Given the description of an element on the screen output the (x, y) to click on. 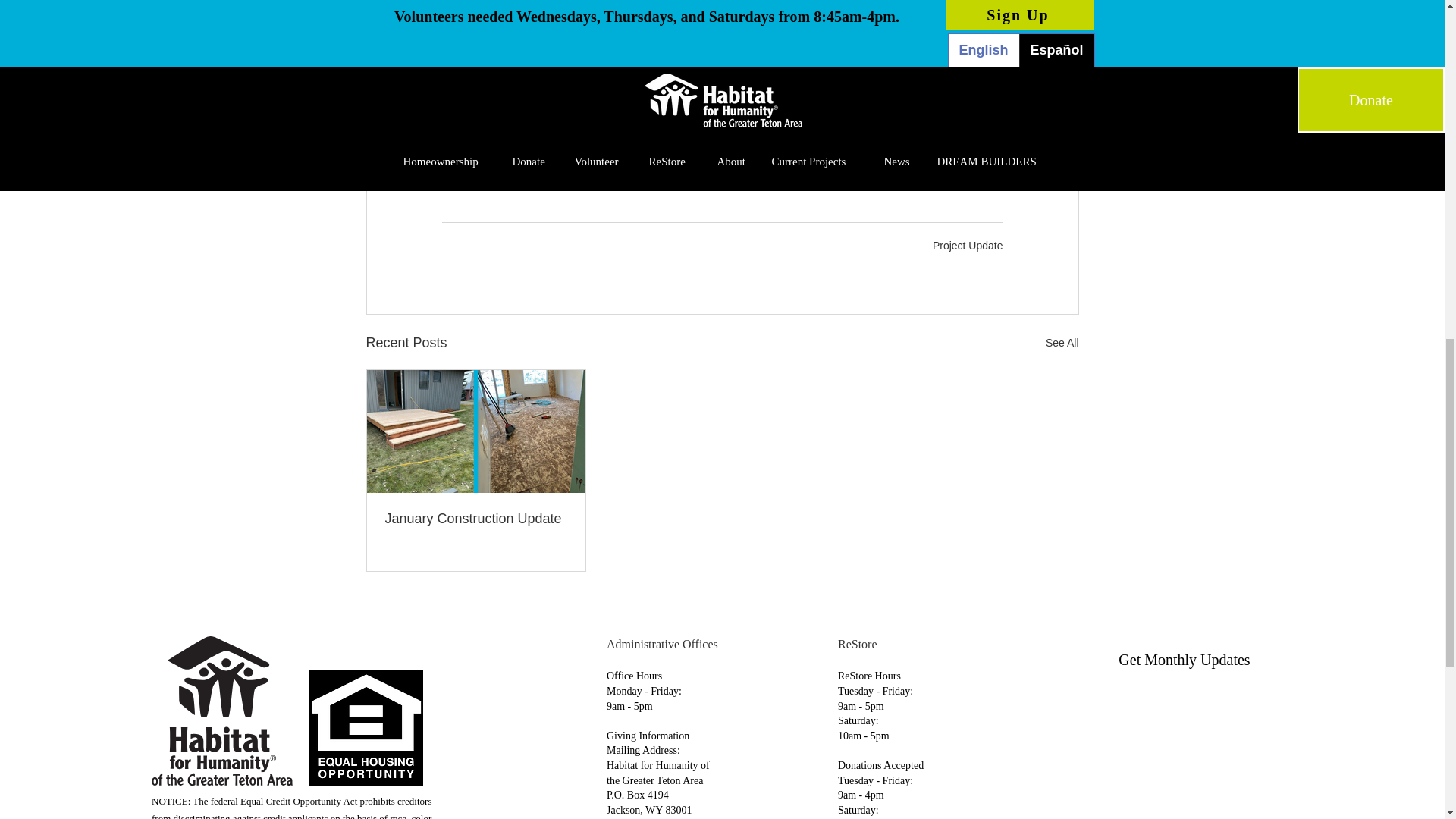
January Construction Update (476, 519)
See All (1061, 342)
Project Update (968, 245)
Newsletter SignUp Form (1183, 754)
